Given the description of an element on the screen output the (x, y) to click on. 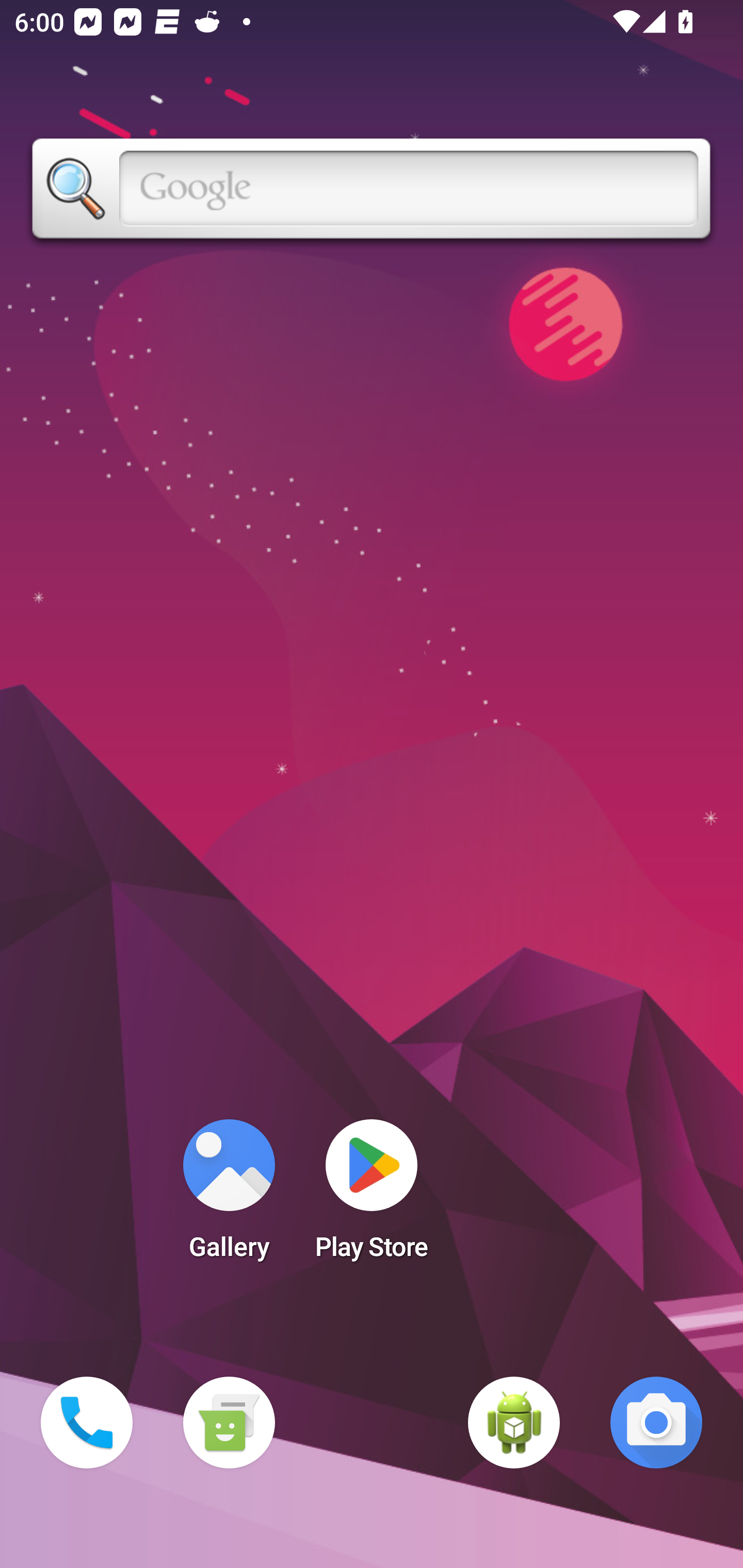
Gallery (228, 1195)
Play Store (371, 1195)
Phone (86, 1422)
Messaging (228, 1422)
WebView Browser Tester (513, 1422)
Camera (656, 1422)
